Given the description of an element on the screen output the (x, y) to click on. 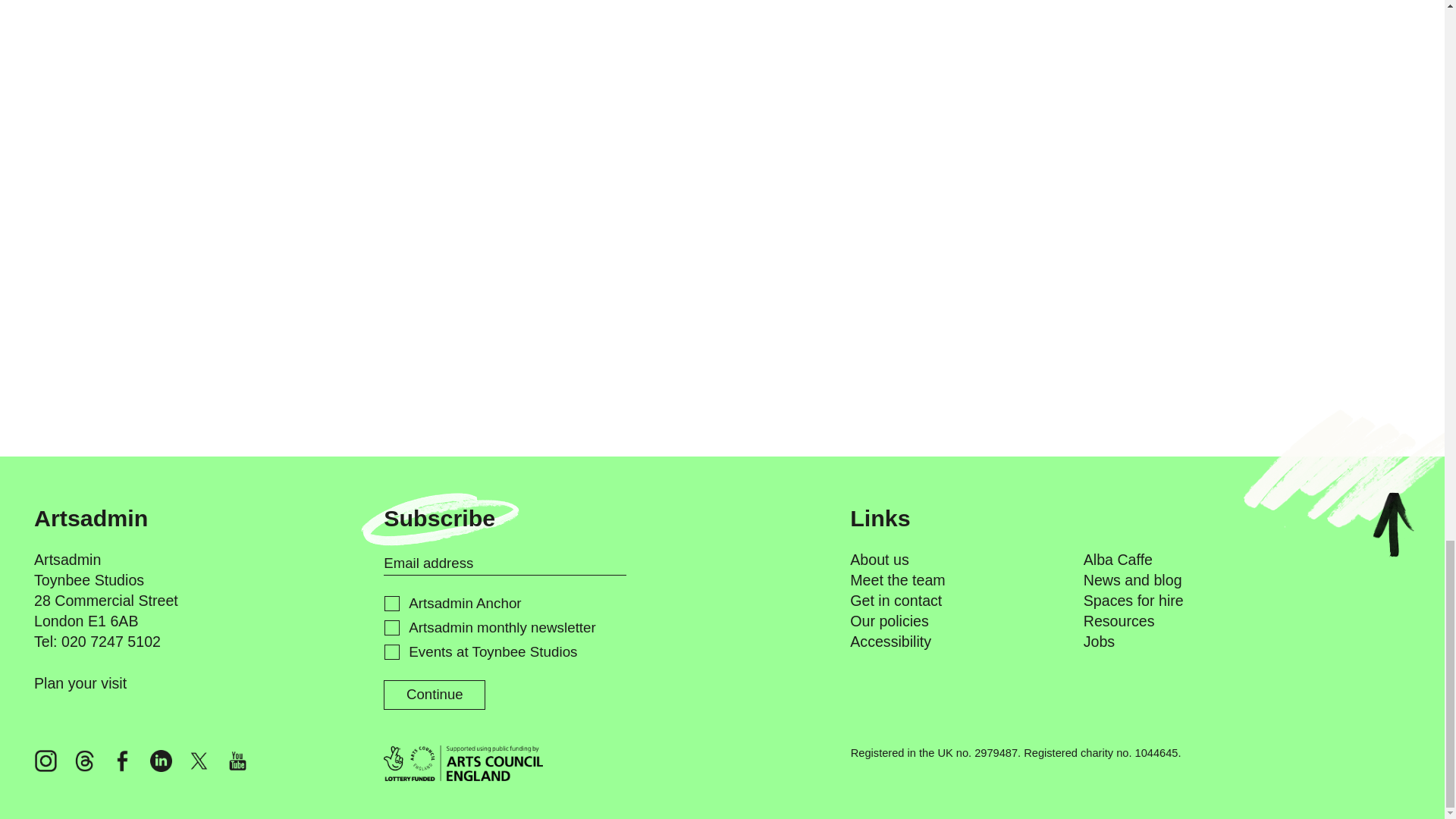
Top (1393, 532)
Top (1393, 524)
Continue (434, 695)
